Given the description of an element on the screen output the (x, y) to click on. 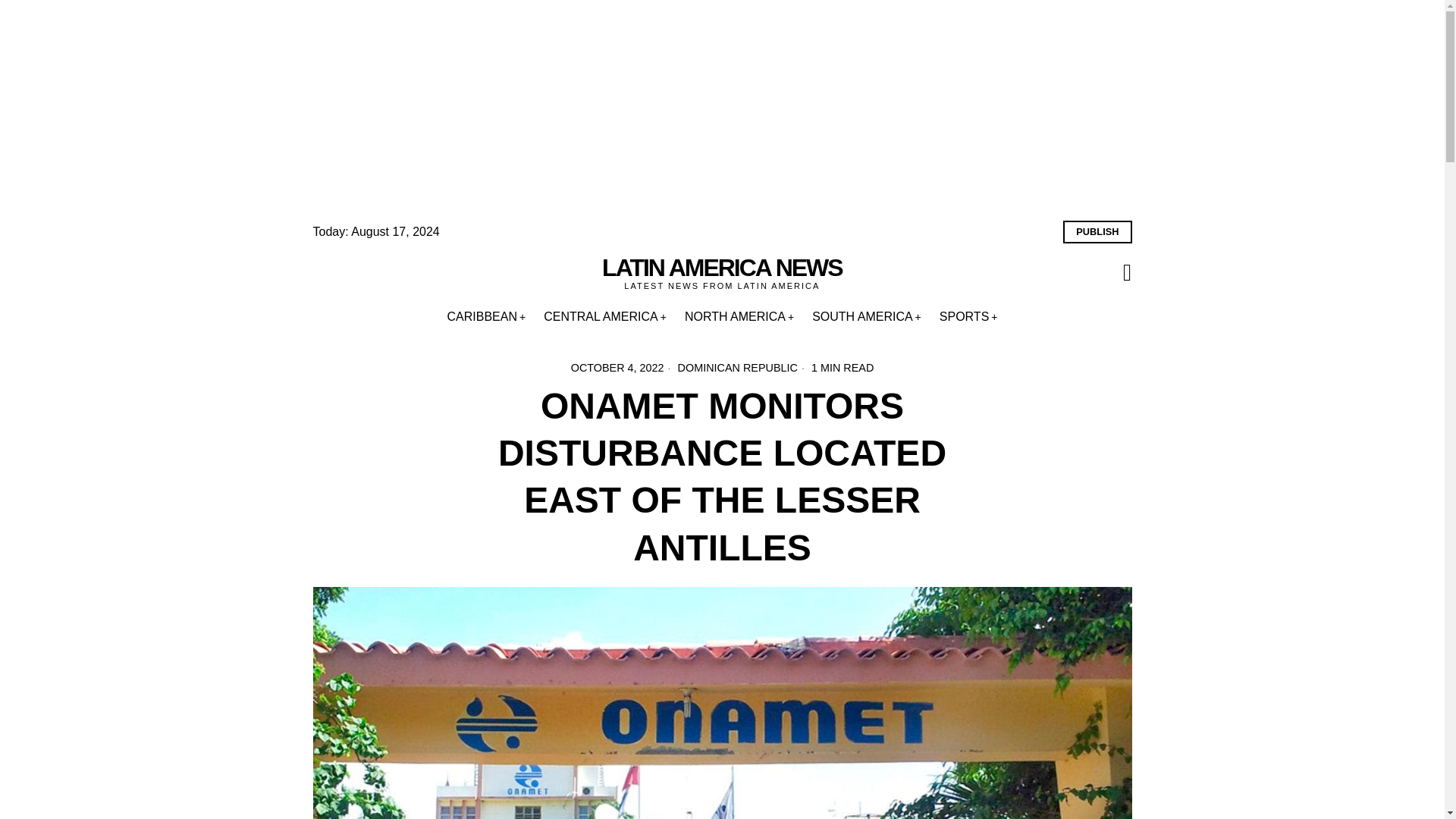
DOMINICAN REPUBLIC (737, 366)
LATIN AMERICA NEWS (722, 267)
04 Oct, 2022 02:21:39 (616, 366)
NORTH AMERICA (739, 317)
PUBLISH (1096, 231)
SPORTS (968, 317)
SOUTH AMERICA (866, 317)
CARIBBEAN (486, 317)
